Given the description of an element on the screen output the (x, y) to click on. 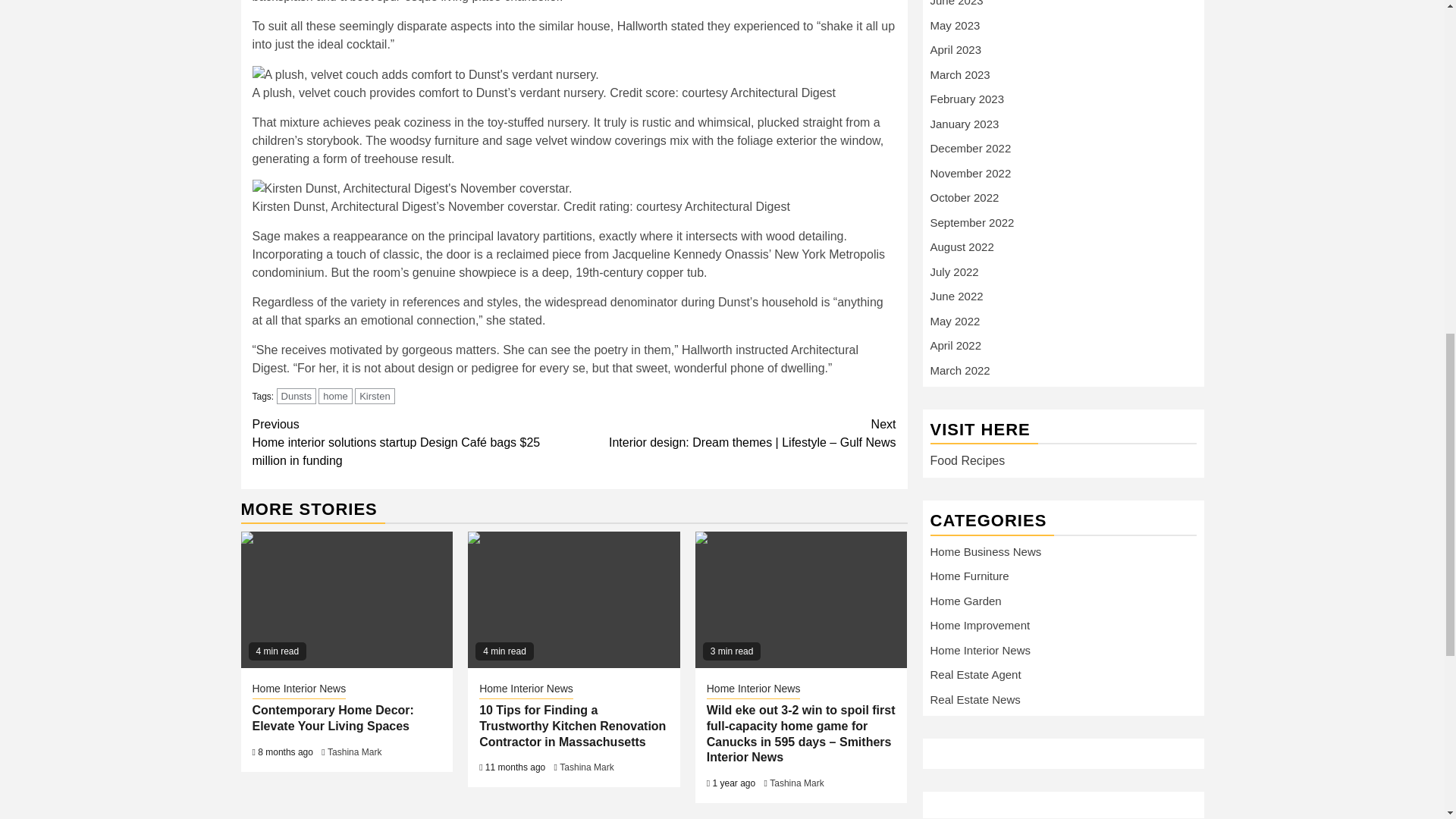
Tashina Mark (354, 751)
Kirsten (374, 396)
Dunsts (295, 396)
Contemporary Home Decor: Elevate Your Living Spaces (332, 717)
Tashina Mark (585, 767)
Contemporary Home Decor: Elevate Your Living Spaces (346, 599)
Home Interior News (298, 689)
Home Interior News (526, 689)
